Given the description of an element on the screen output the (x, y) to click on. 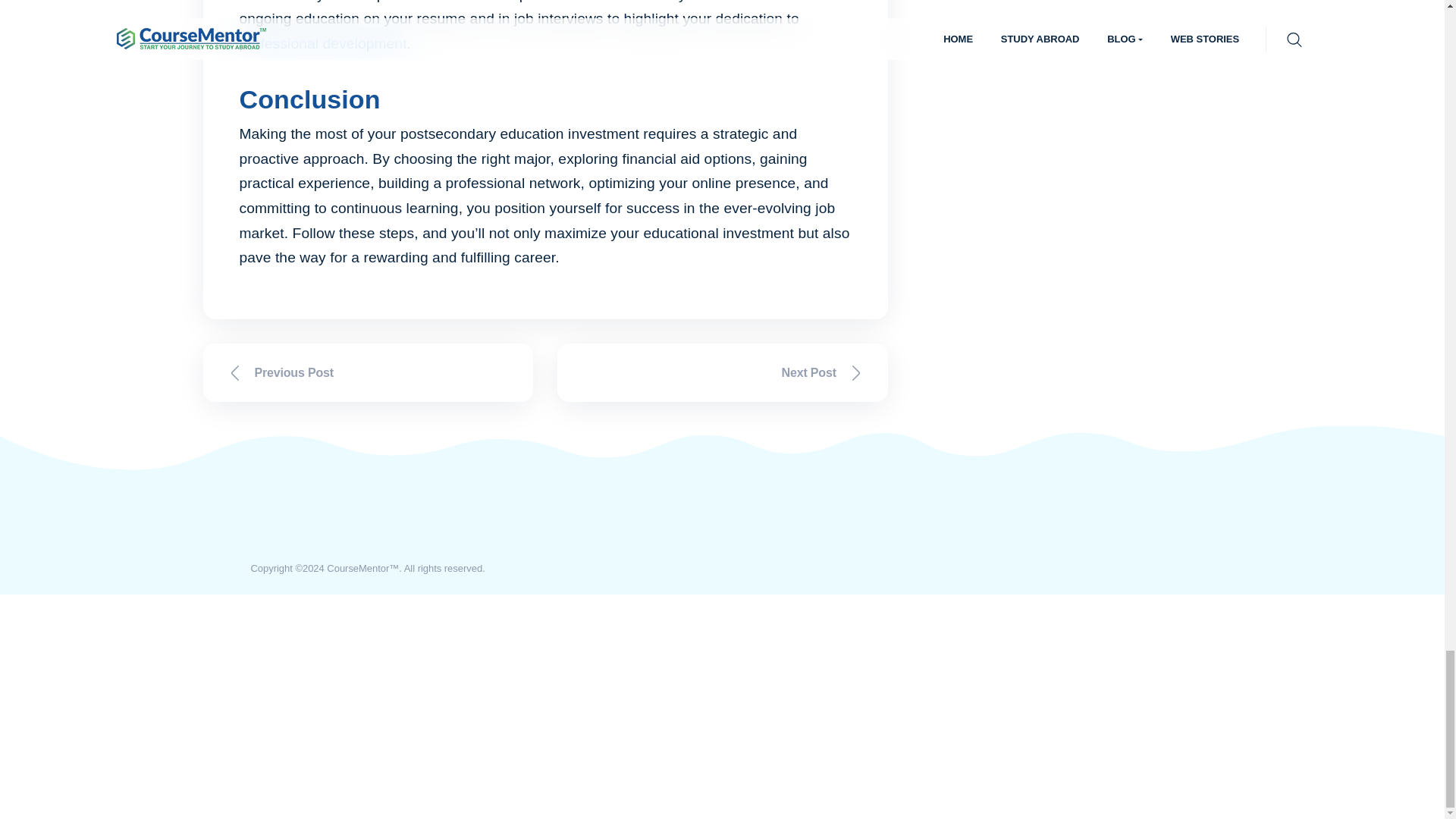
Next Post (722, 372)
Previous Post (368, 372)
professional development (323, 43)
